Given the description of an element on the screen output the (x, y) to click on. 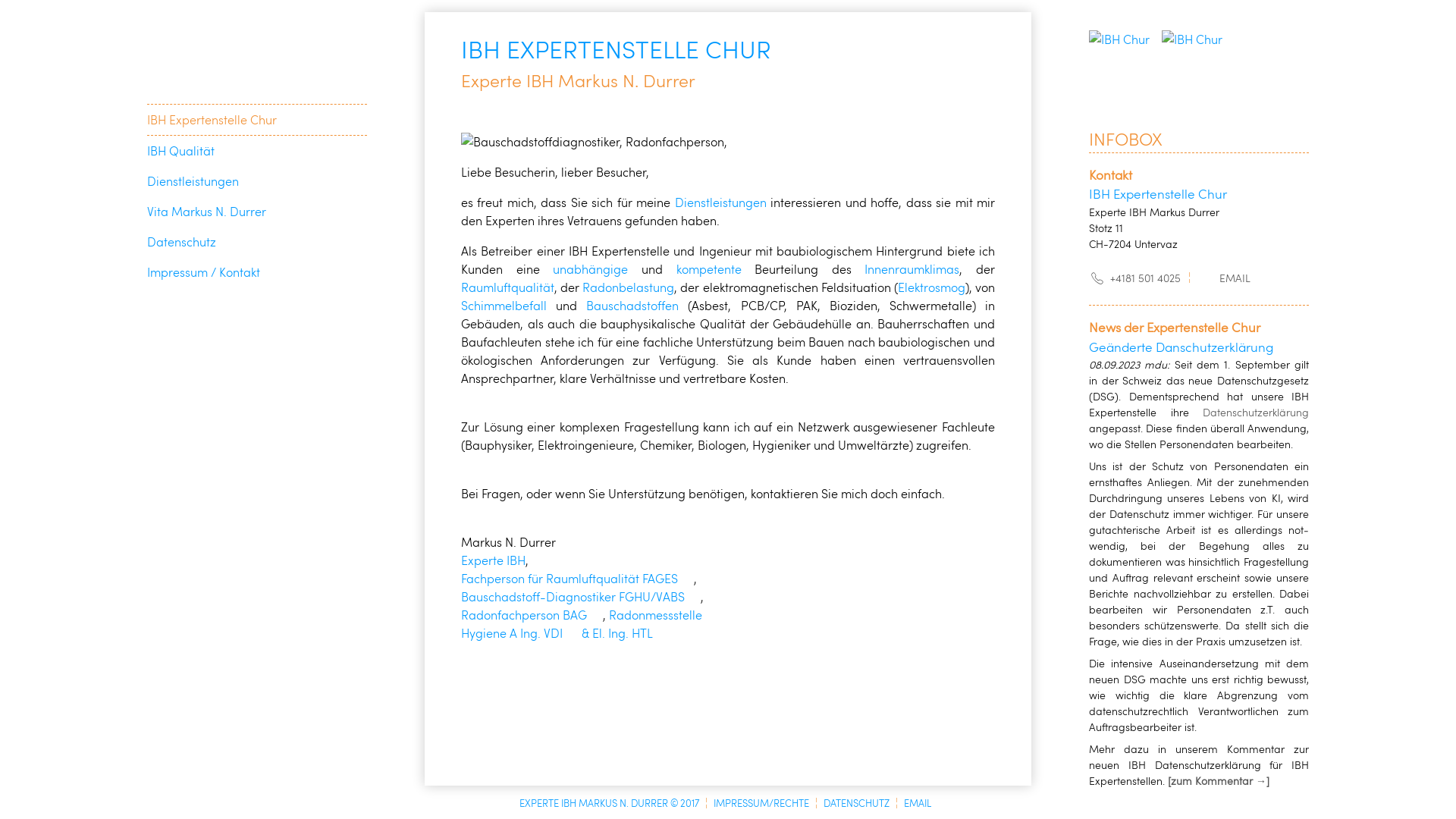
Impressum / Kontakt Element type: text (203, 271)
Vita Markus N. Durrer Element type: text (206, 211)
Innenraumklimas Element type: text (911, 268)
DATENSCHUTZ Element type: text (856, 802)
Bauschadstoffen Element type: text (632, 305)
Hygiene A Ing. VDI Element type: text (519, 632)
EMAIL Element type: text (917, 802)
Elektrosmog Element type: text (931, 286)
+4181 501 4025 Element type: text (1134, 277)
Datenschutz Element type: text (181, 241)
EMAIL Element type: text (1224, 277)
kompetente Element type: text (708, 268)
Radonbelastung Element type: text (628, 286)
Bauschadstoff-Diagnostiker FGHU/VABS Element type: text (580, 596)
IMPRESSUM/RECHTE Element type: text (760, 802)
Radonfachperson BAG Element type: text (531, 614)
Dienstleistungen Element type: text (720, 202)
Schimmelbefall Element type: text (503, 305)
Radonmessstelle Element type: text (663, 614)
Experte IBH Element type: text (493, 559)
Dienstleistungen Element type: text (192, 180)
